Given the description of an element on the screen output the (x, y) to click on. 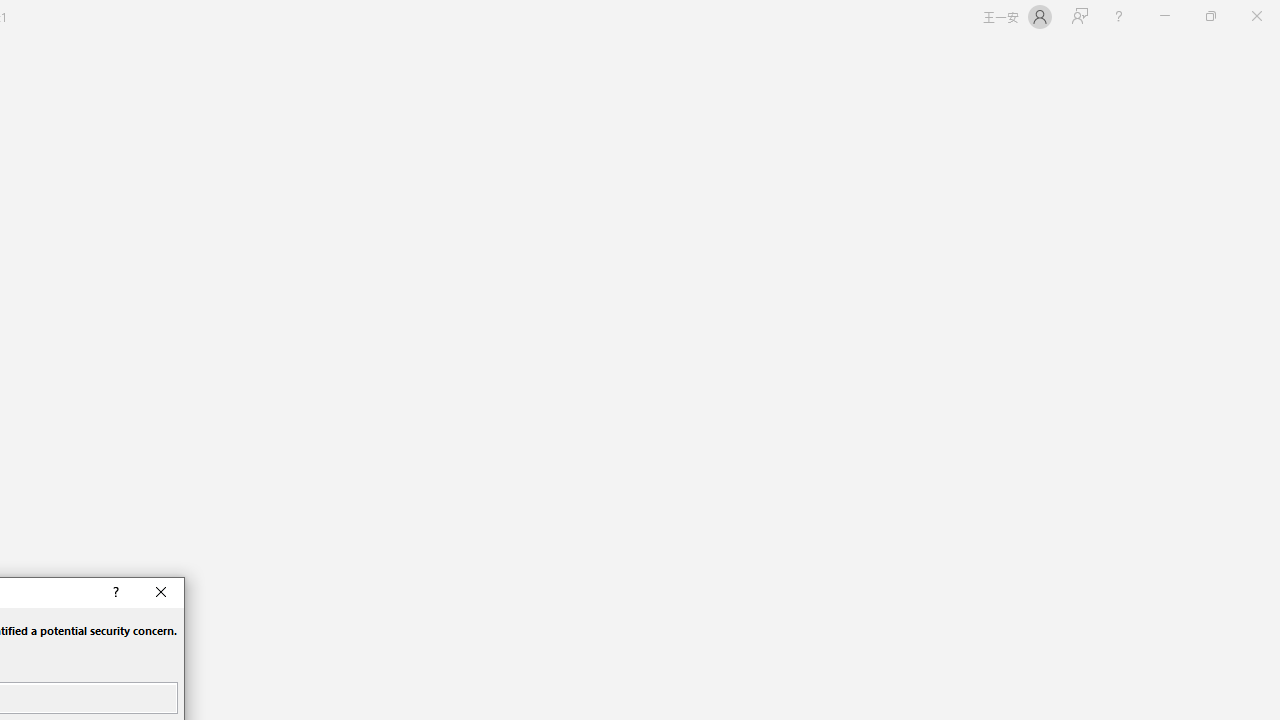
Minimize (1164, 16)
Restore Down (1210, 16)
Context help (114, 592)
Help (1118, 16)
Close (161, 592)
